Given the description of an element on the screen output the (x, y) to click on. 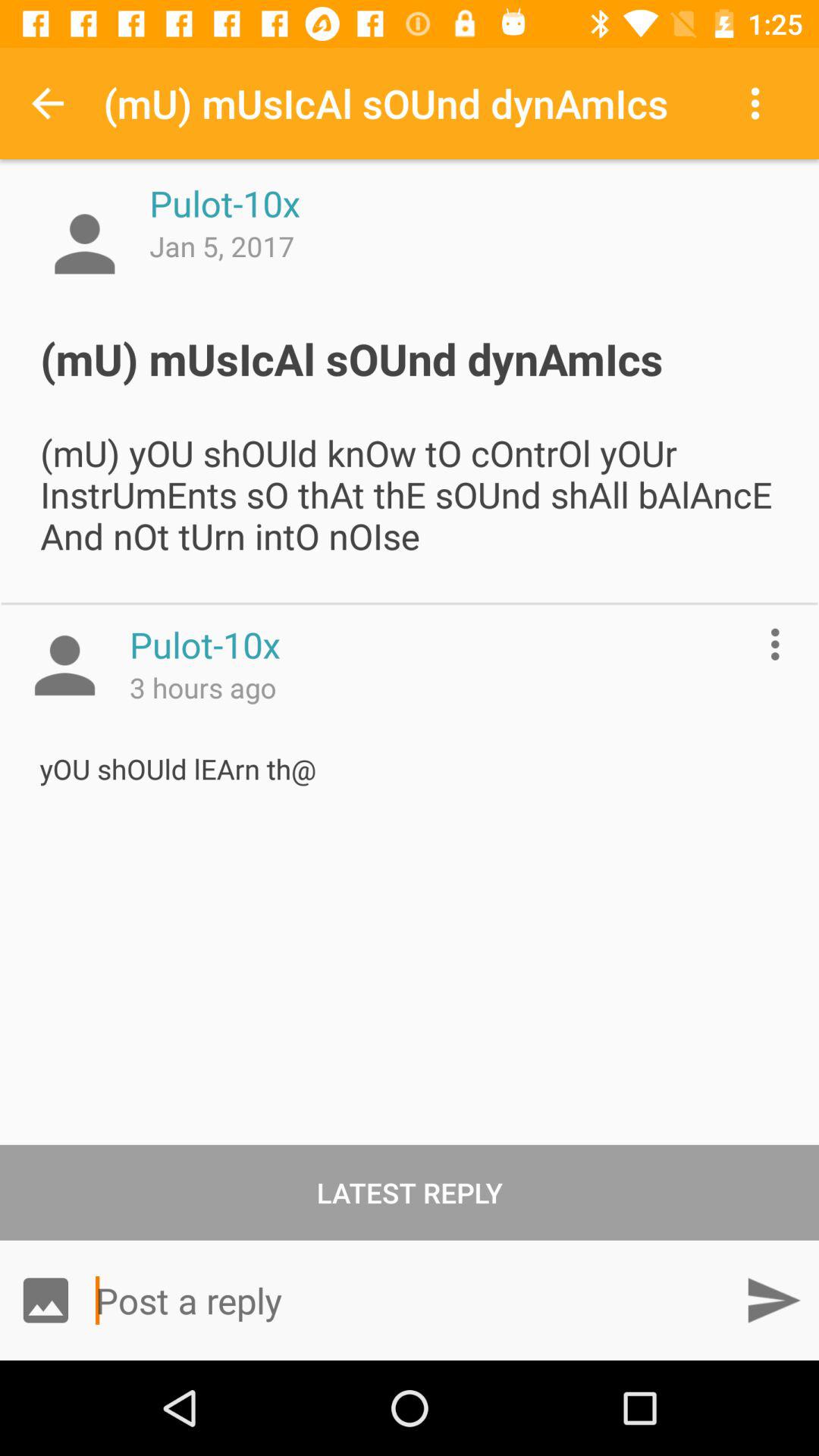
profile picture (84, 243)
